Given the description of an element on the screen output the (x, y) to click on. 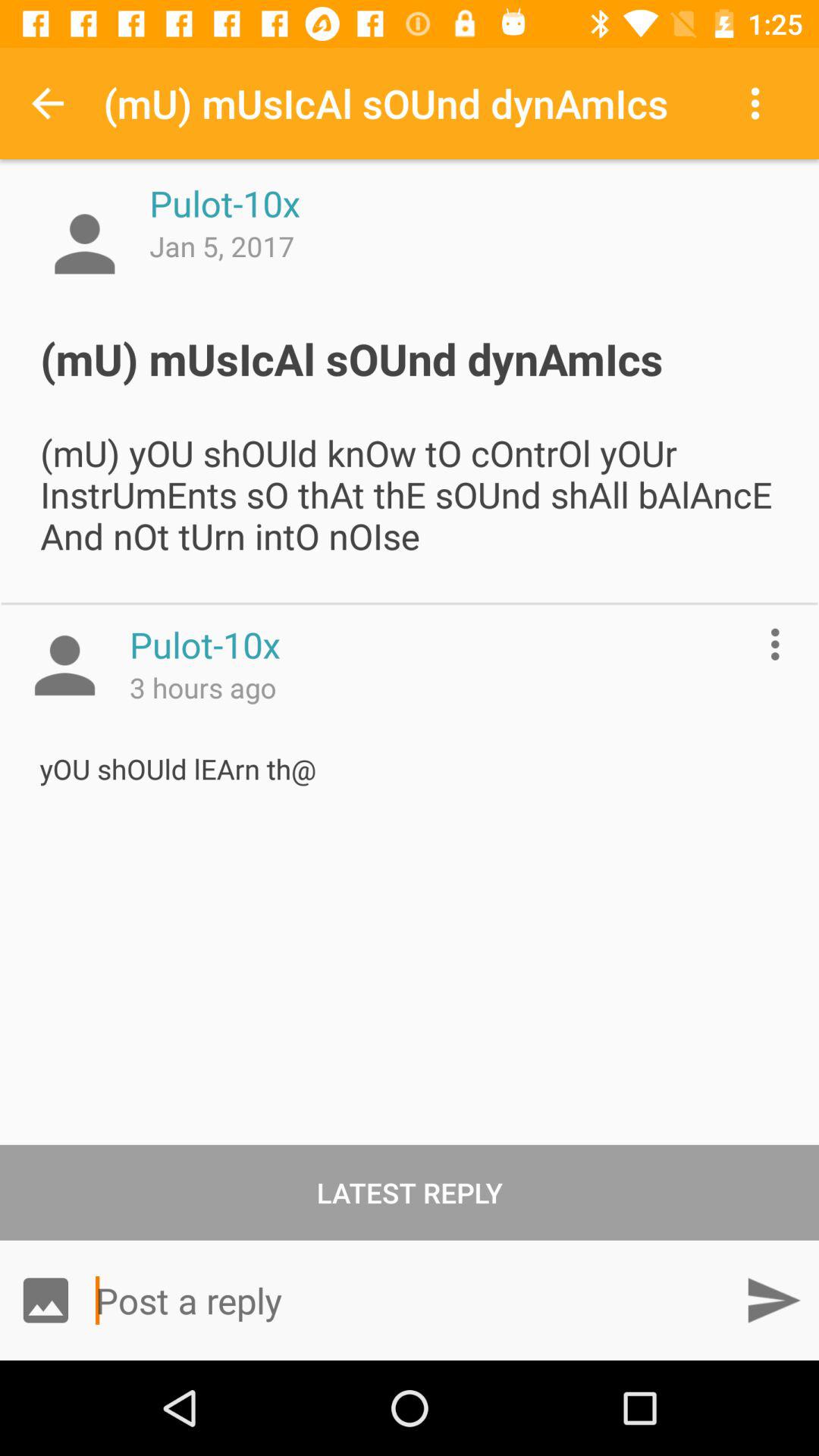
profile picture (84, 243)
